Given the description of an element on the screen output the (x, y) to click on. 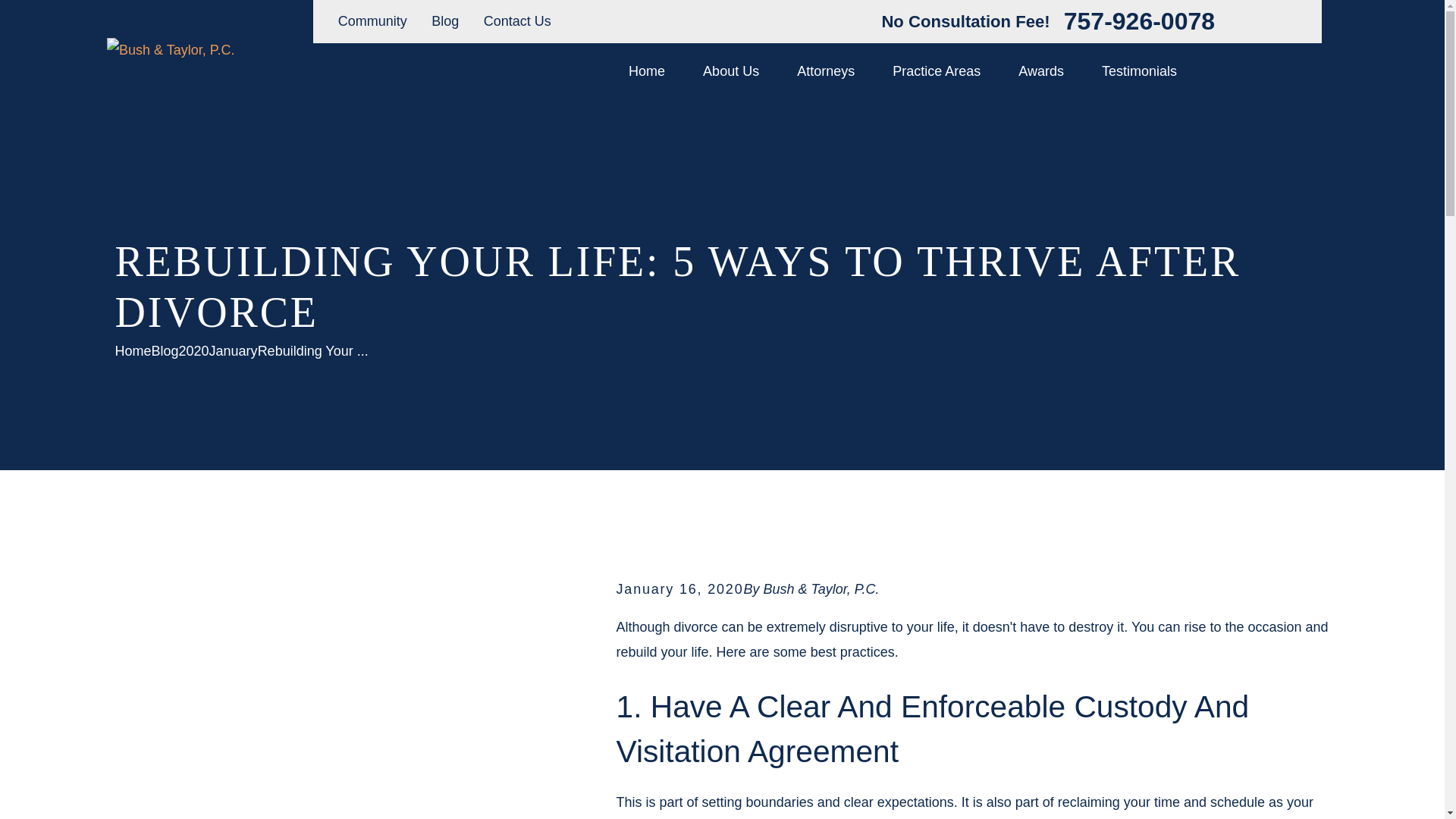
Go Home (133, 350)
Home (646, 71)
Attorneys (825, 71)
Practice Areas (935, 71)
About Us (730, 71)
Contact Us (517, 20)
Community (372, 20)
757-926-0078 (1139, 21)
Home (170, 49)
Blog (444, 20)
